Given the description of an element on the screen output the (x, y) to click on. 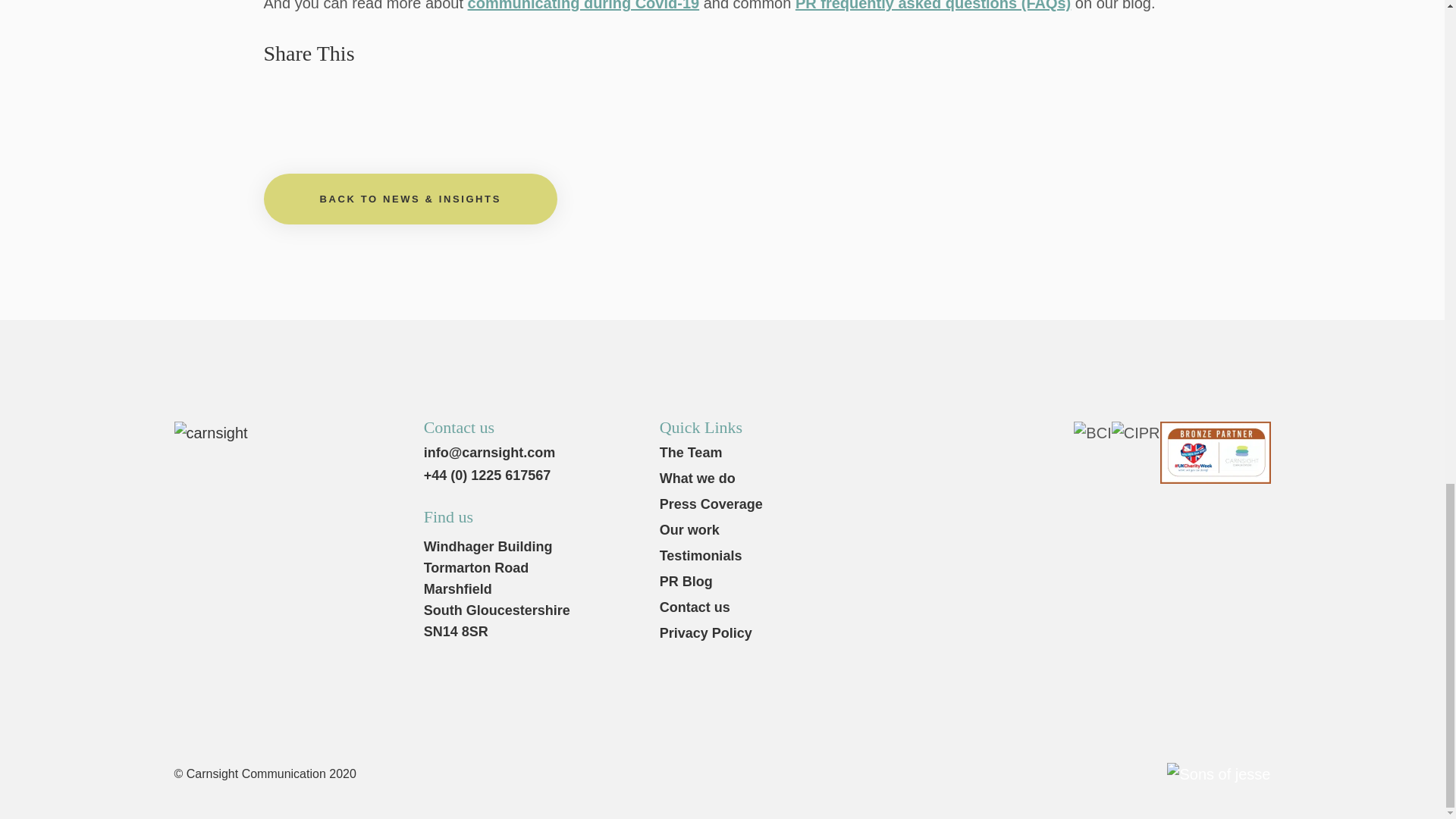
What we do (866, 478)
communicating during Covid-19 (583, 5)
Testimonials (866, 555)
Press Coverage (866, 504)
Contact us (866, 607)
Our work (866, 530)
PR Blog (866, 581)
Privacy Policy (866, 633)
The Team (866, 452)
